Given the description of an element on the screen output the (x, y) to click on. 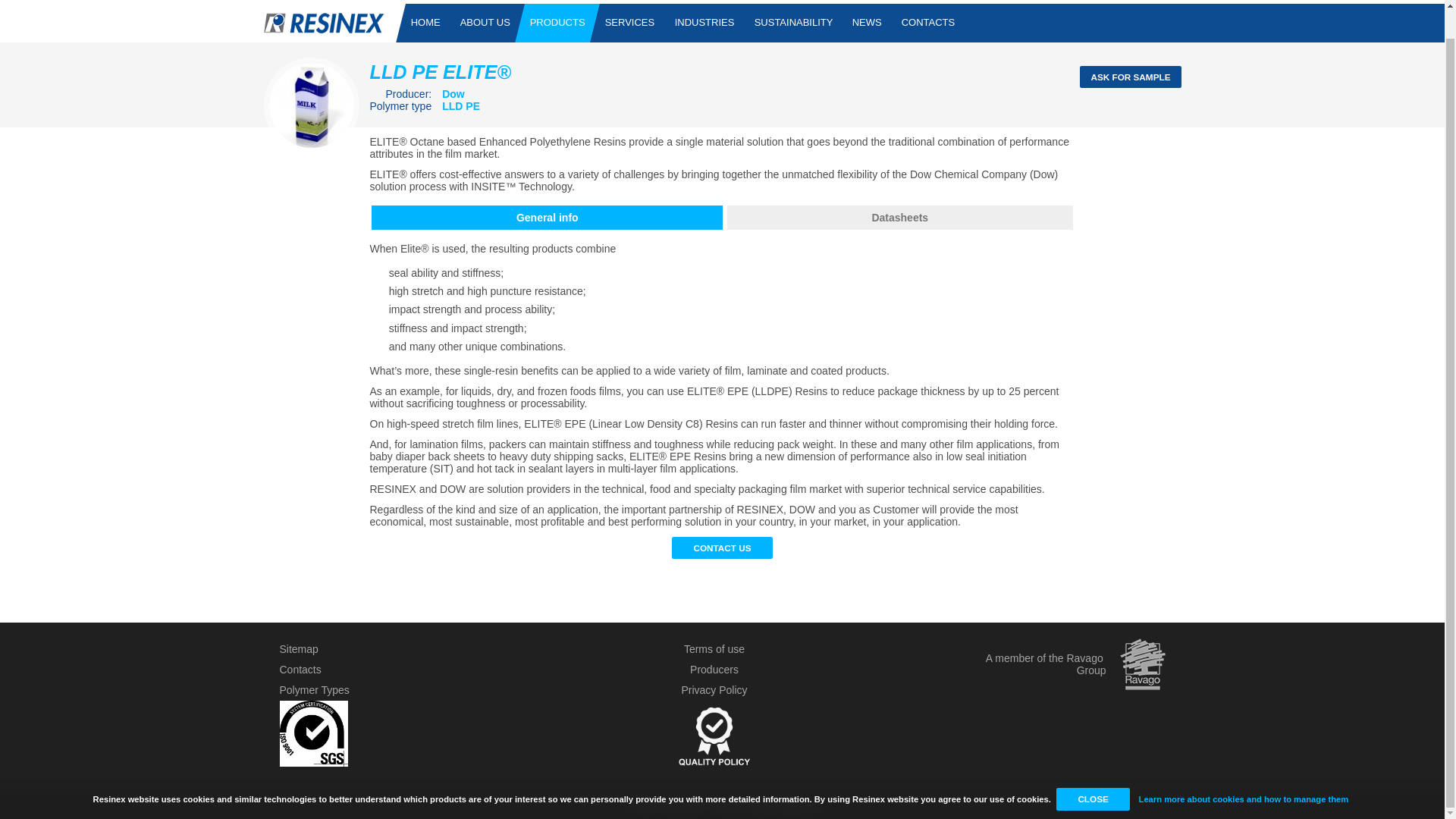
Terms of use (714, 648)
General info (546, 217)
PRODUCTS (557, 23)
Polymer Types (314, 689)
BSI Certificate Resinex UK (313, 762)
Learn more about cookies and how to manage them (1243, 769)
NEWS (867, 23)
Privacy Policy (713, 689)
Sitemap (298, 648)
Producers (714, 669)
Quality policy (714, 772)
CONTACT US (722, 547)
Terms of use (714, 648)
Privacy Policy (713, 689)
CLOSE (1093, 770)
